Given the description of an element on the screen output the (x, y) to click on. 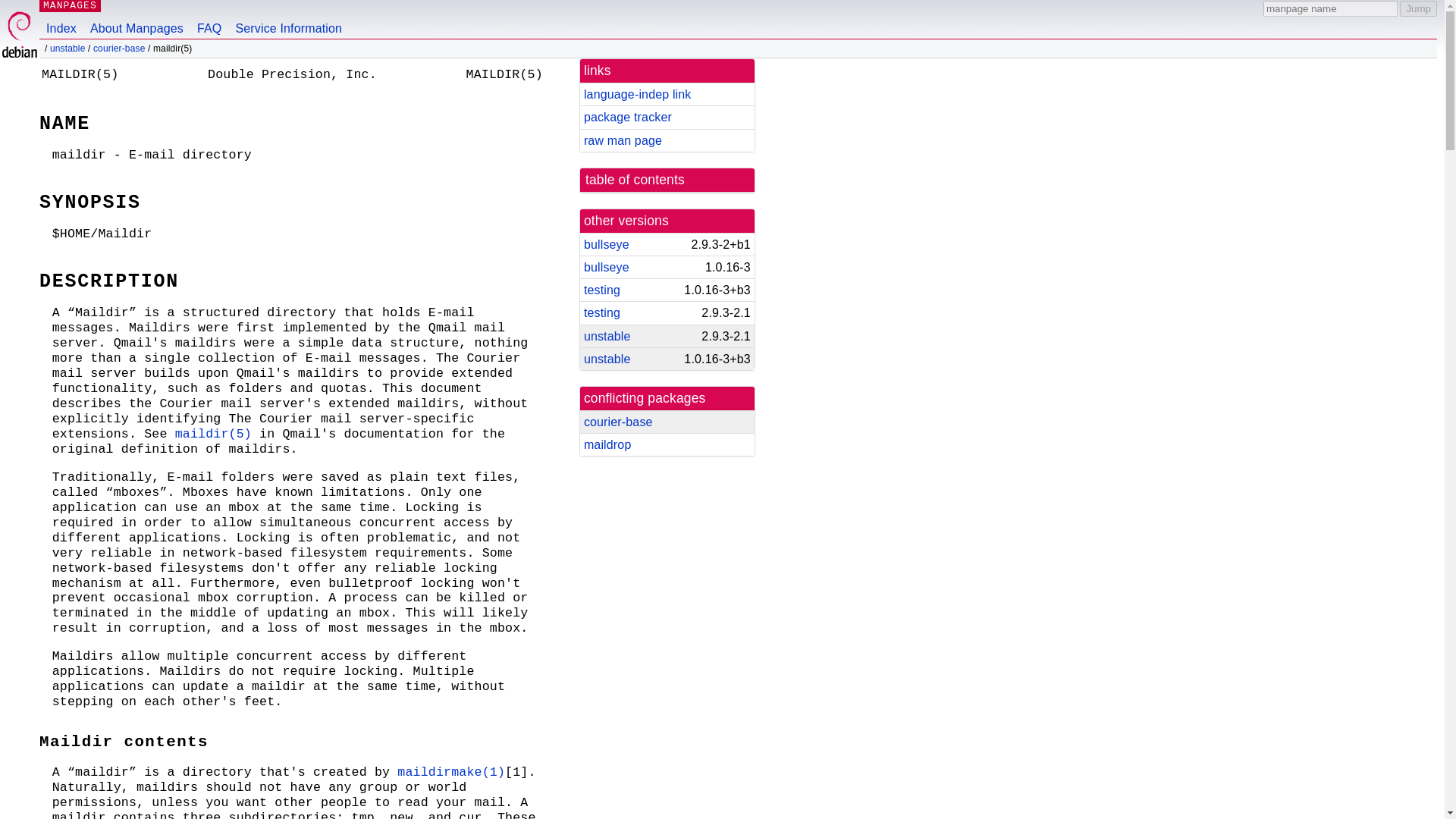
courier-base (119, 48)
FAQ (209, 19)
package tracker (627, 116)
bullseye (605, 267)
About Manpages (136, 19)
testing (601, 289)
2.9.3-2.1 (719, 336)
unstable (606, 359)
maildrop (607, 444)
raw man page (622, 140)
courier-base (617, 421)
Jump (1418, 8)
testing (601, 312)
bullseye (605, 244)
1.0.16-3 (722, 267)
